Given the description of an element on the screen output the (x, y) to click on. 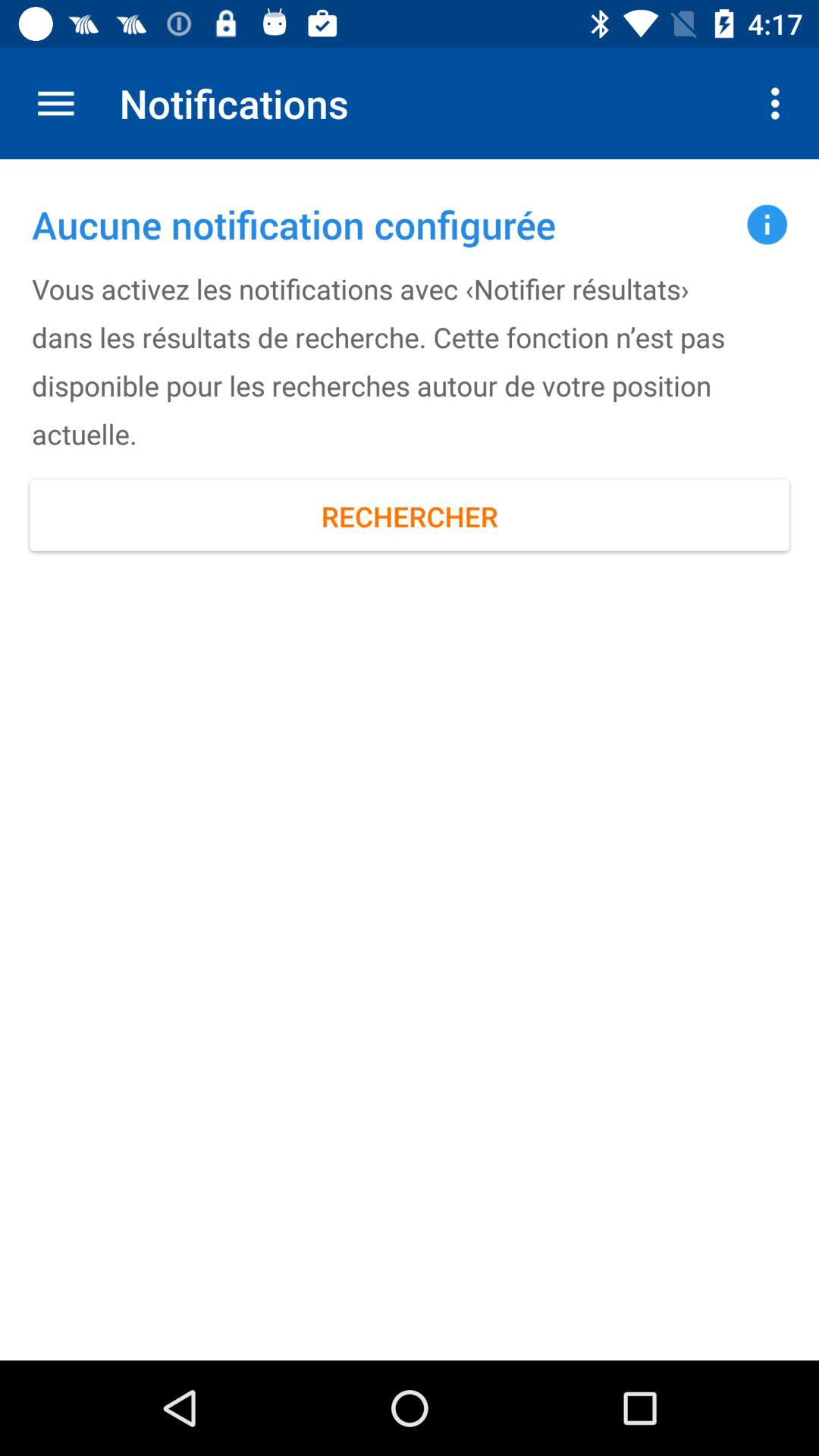
open icon to the left of notifications (55, 103)
